Given the description of an element on the screen output the (x, y) to click on. 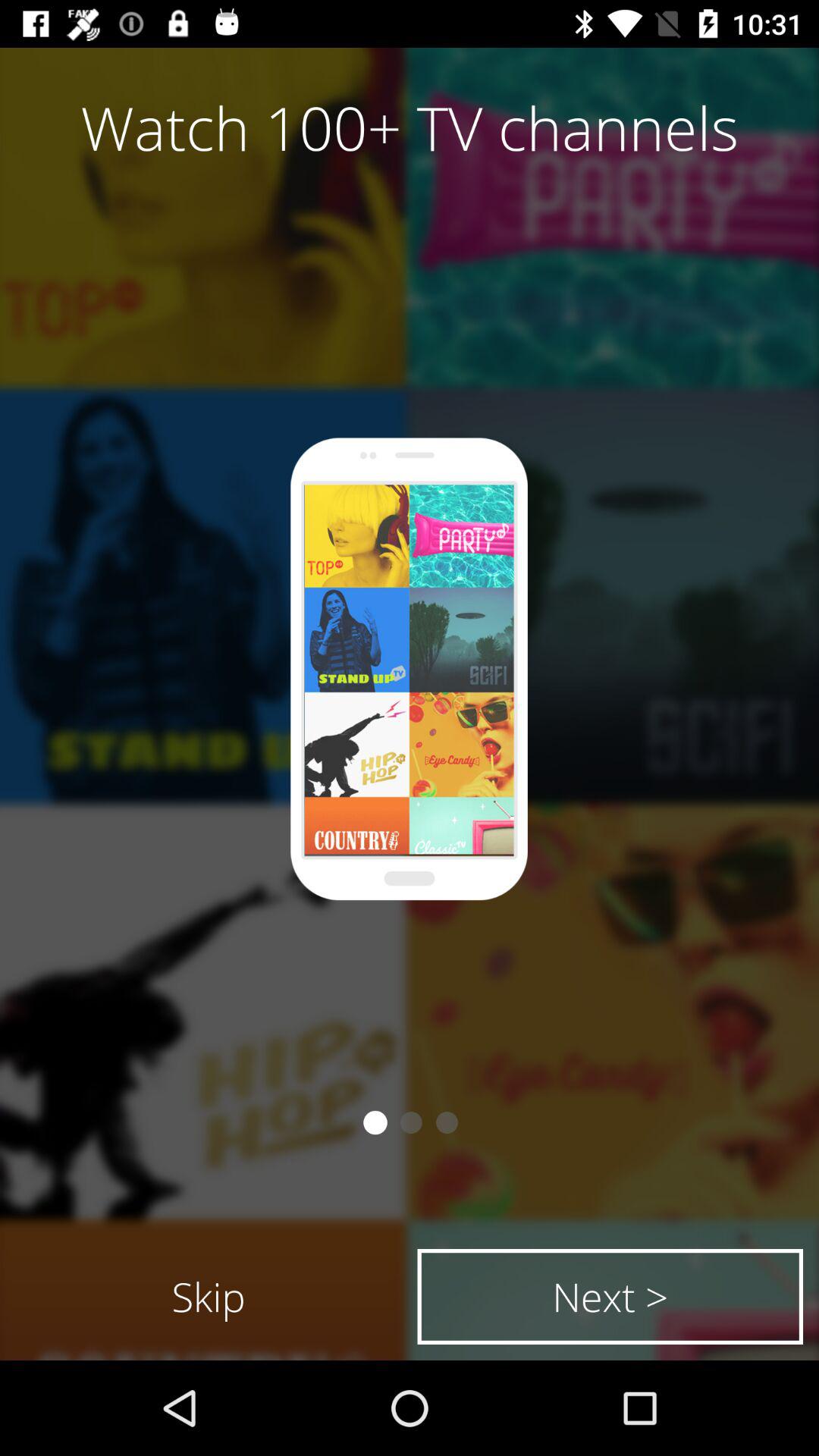
turn off icon at the bottom right corner (610, 1296)
